Given the description of an element on the screen output the (x, y) to click on. 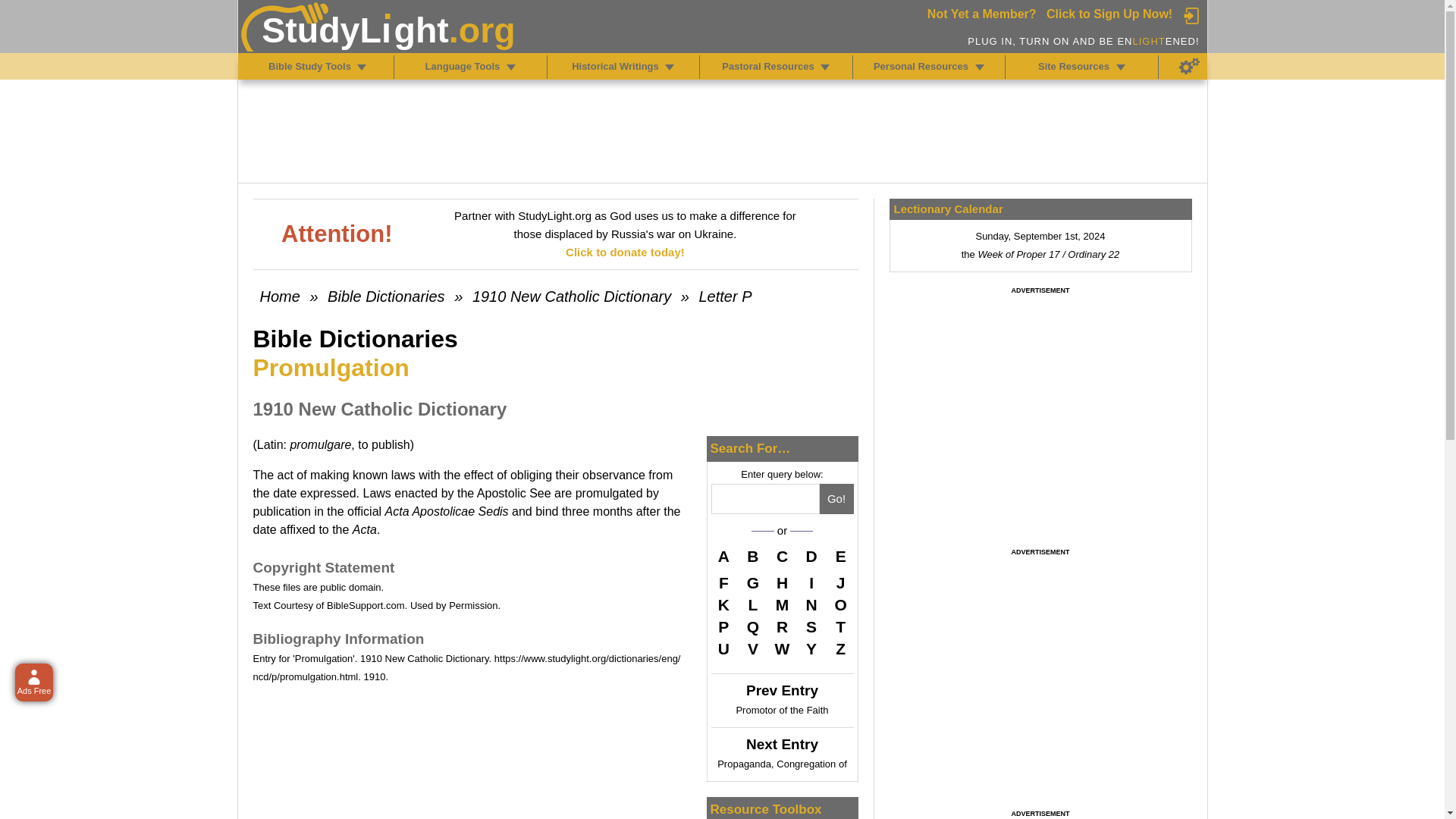
C (782, 558)
Site Resources (1120, 67)
Personal Resources (979, 67)
Letter P (724, 296)
Pastoral Resources (825, 67)
Historical Writings (669, 67)
Y (810, 648)
Home (279, 296)
J (840, 583)
Click to Sign Up Now! (1109, 13)
